Given the description of an element on the screen output the (x, y) to click on. 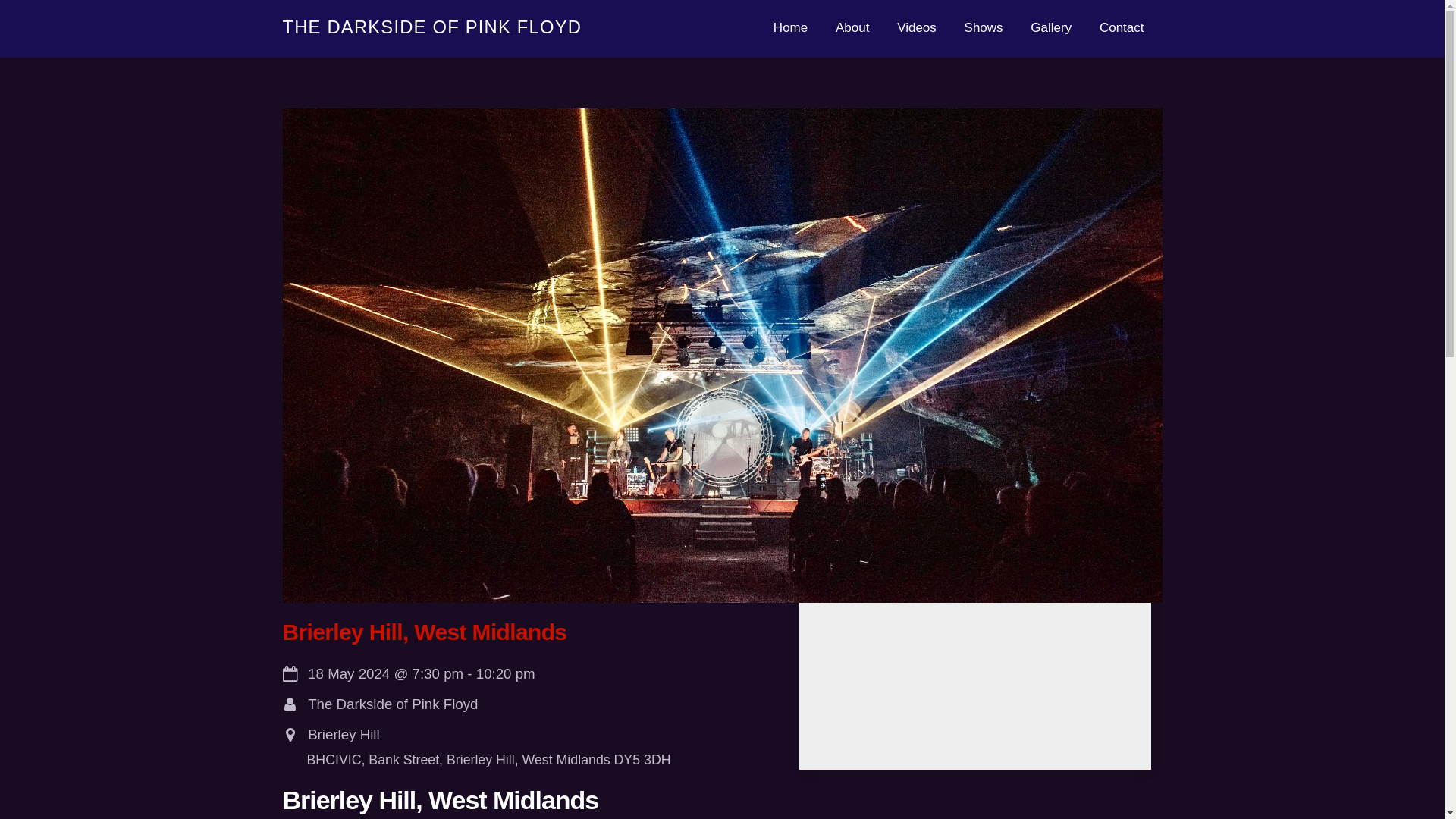
Brierley Hill, West Midlands (424, 631)
Contact (1121, 28)
THE DARKSIDE OF PINK FLOYD (431, 26)
The Darkside of Pink Floyd (431, 26)
Videos (721, 28)
Home (917, 28)
About (790, 28)
Gallery (852, 28)
Shows (1050, 28)
